Given the description of an element on the screen output the (x, y) to click on. 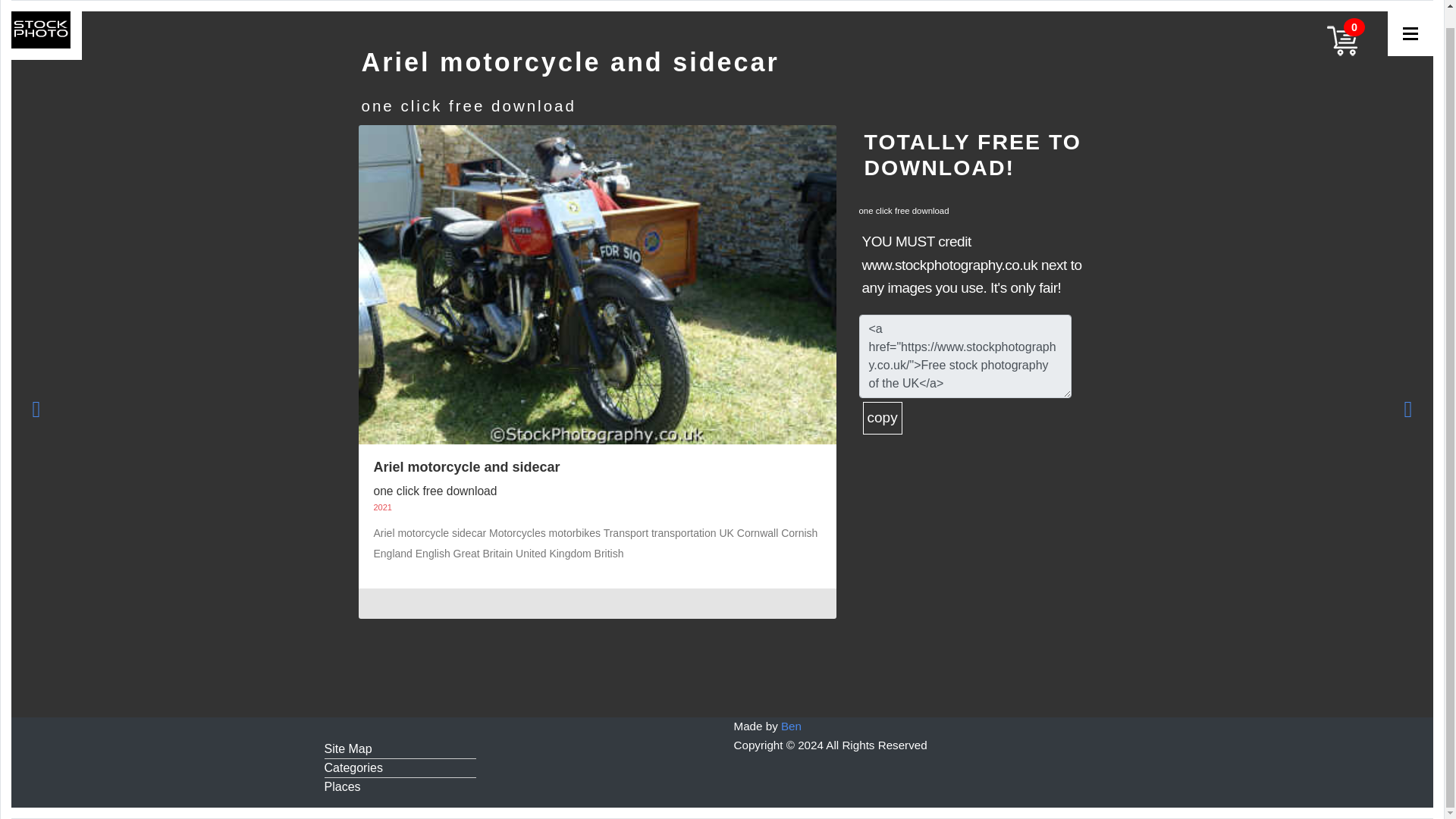
DOWNLOAD (904, 204)
DOWNLOAD (468, 93)
cart item count (1341, 23)
one click free download (434, 481)
one click free download (468, 93)
DOWNLOAD (434, 481)
Site Map (400, 749)
0 (1341, 23)
Places (400, 787)
